Given the description of an element on the screen output the (x, y) to click on. 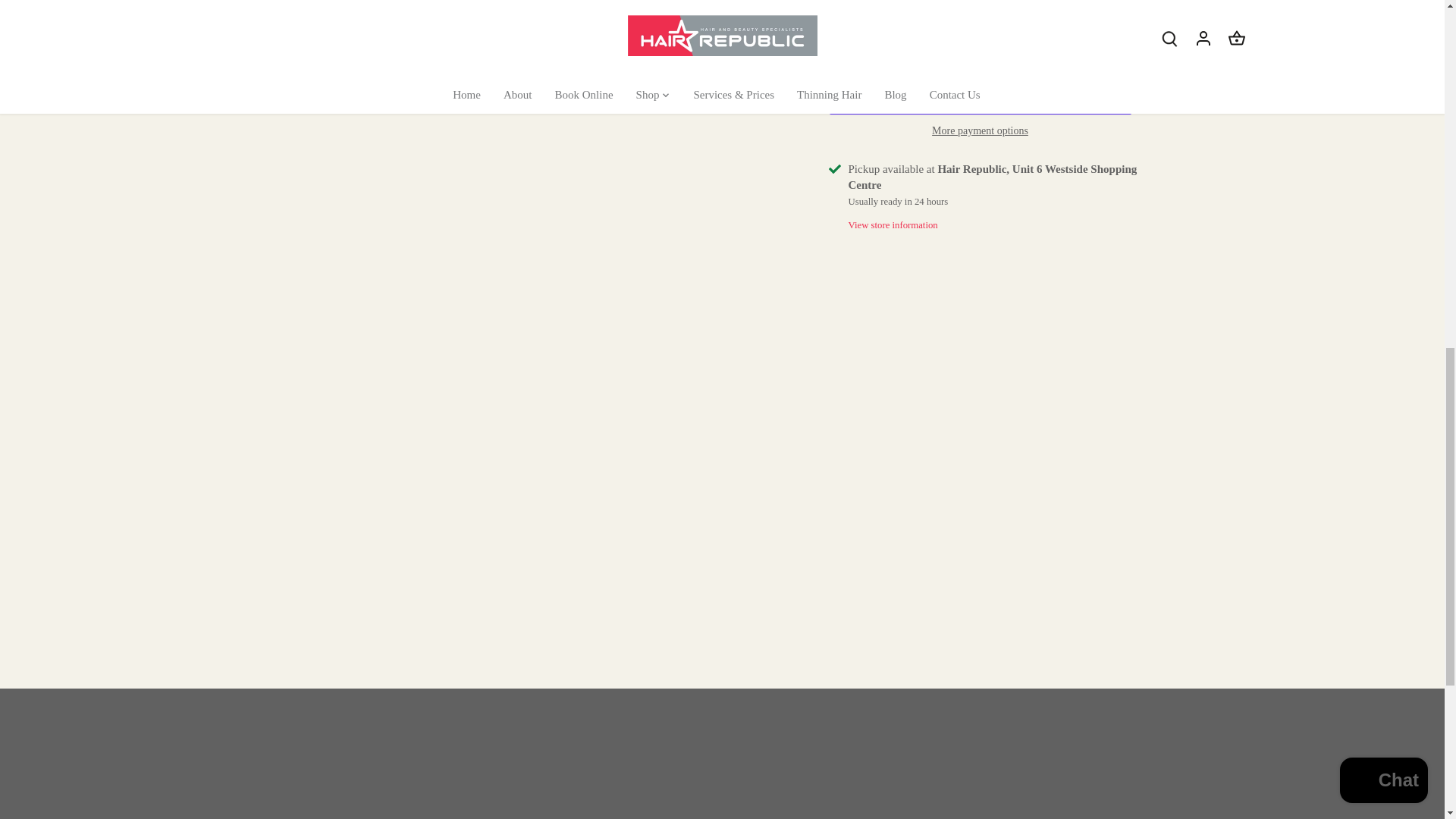
More payment options (979, 130)
1 (872, 52)
Add to cart (1028, 52)
